Given the description of an element on the screen output the (x, y) to click on. 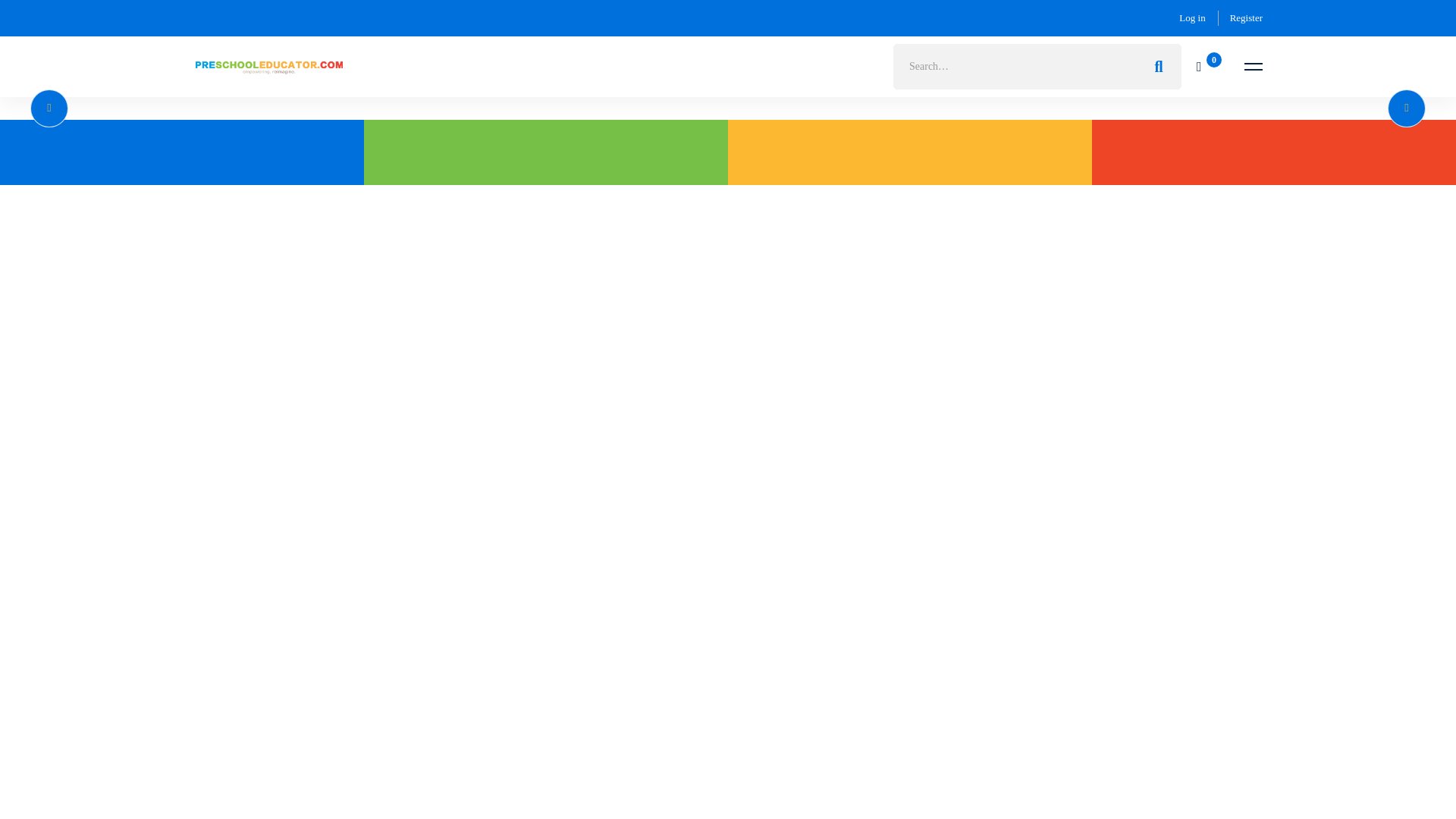
Search for: (1036, 66)
Register (1246, 18)
Register (1246, 18)
Log in (1192, 18)
Log in (1192, 18)
View your shopping cart (1208, 66)
